Given the description of an element on the screen output the (x, y) to click on. 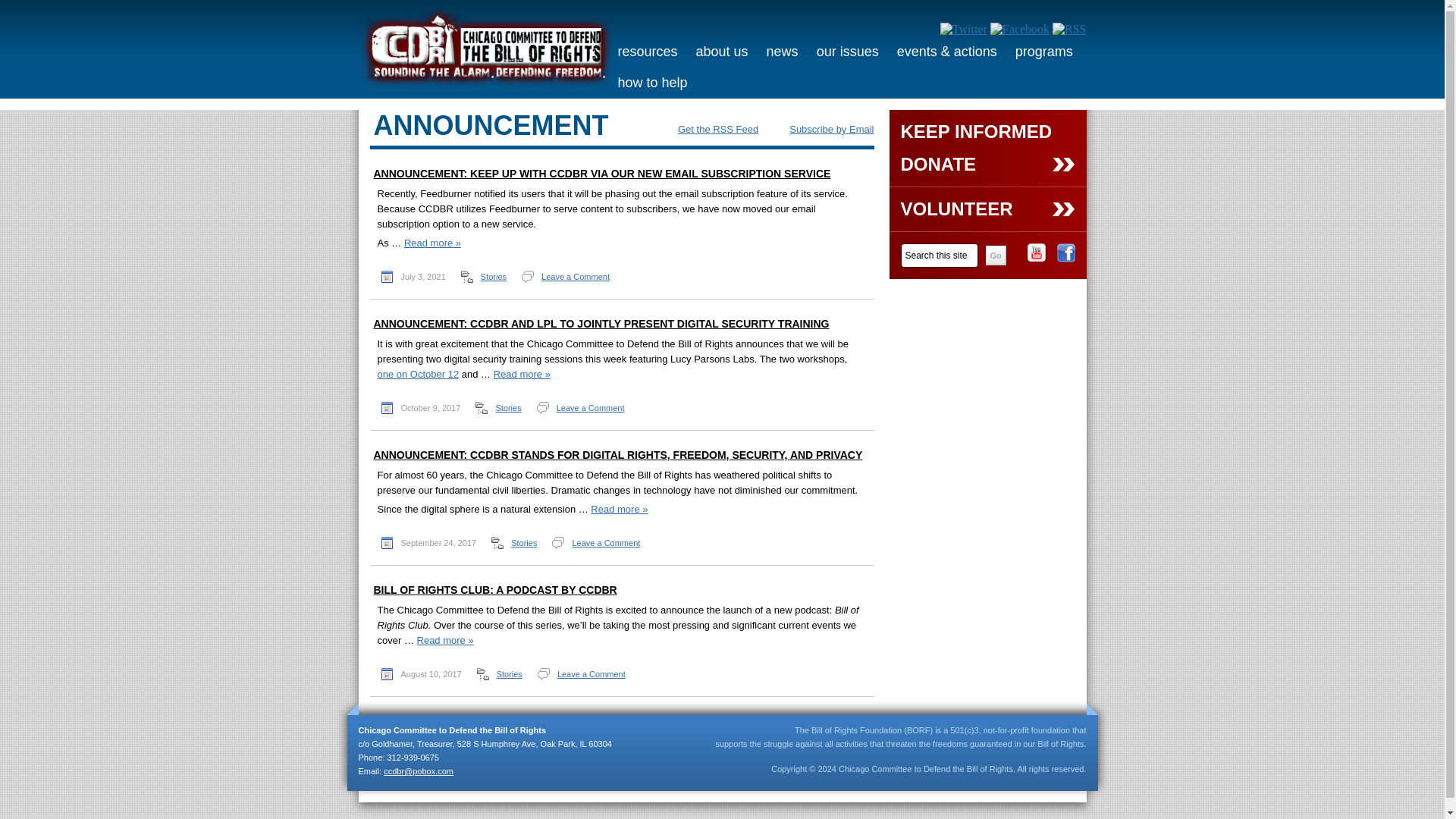
how to help (651, 82)
Get the RSS Feed (708, 129)
Leave a Comment (575, 276)
Donate (987, 170)
Find us on Facebook (1066, 258)
programs (1043, 51)
our issues (848, 51)
Stories (493, 276)
Return to our homepage (489, 83)
